Given the description of an element on the screen output the (x, y) to click on. 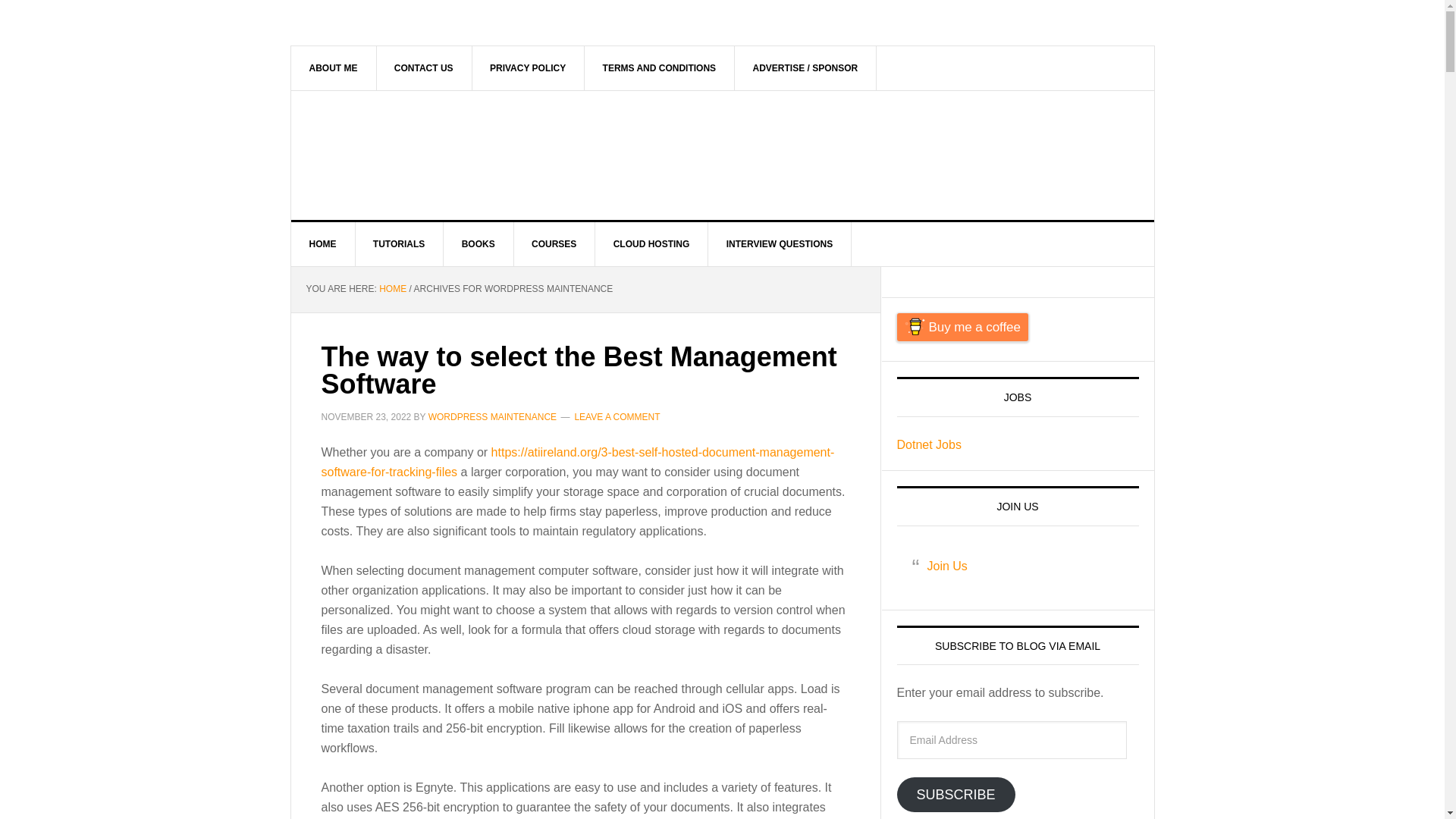
INTERVIEW QUESTIONS (779, 243)
HOME (323, 243)
The way to select the Best Management Software (579, 370)
COURSES (554, 243)
HOME (392, 288)
PRIVACY POLICY (528, 67)
DOTNET DETAIL (419, 155)
CLOUD HOSTING (652, 243)
TERMS AND CONDITIONS (660, 67)
TUTORIALS (399, 243)
